Given the description of an element on the screen output the (x, y) to click on. 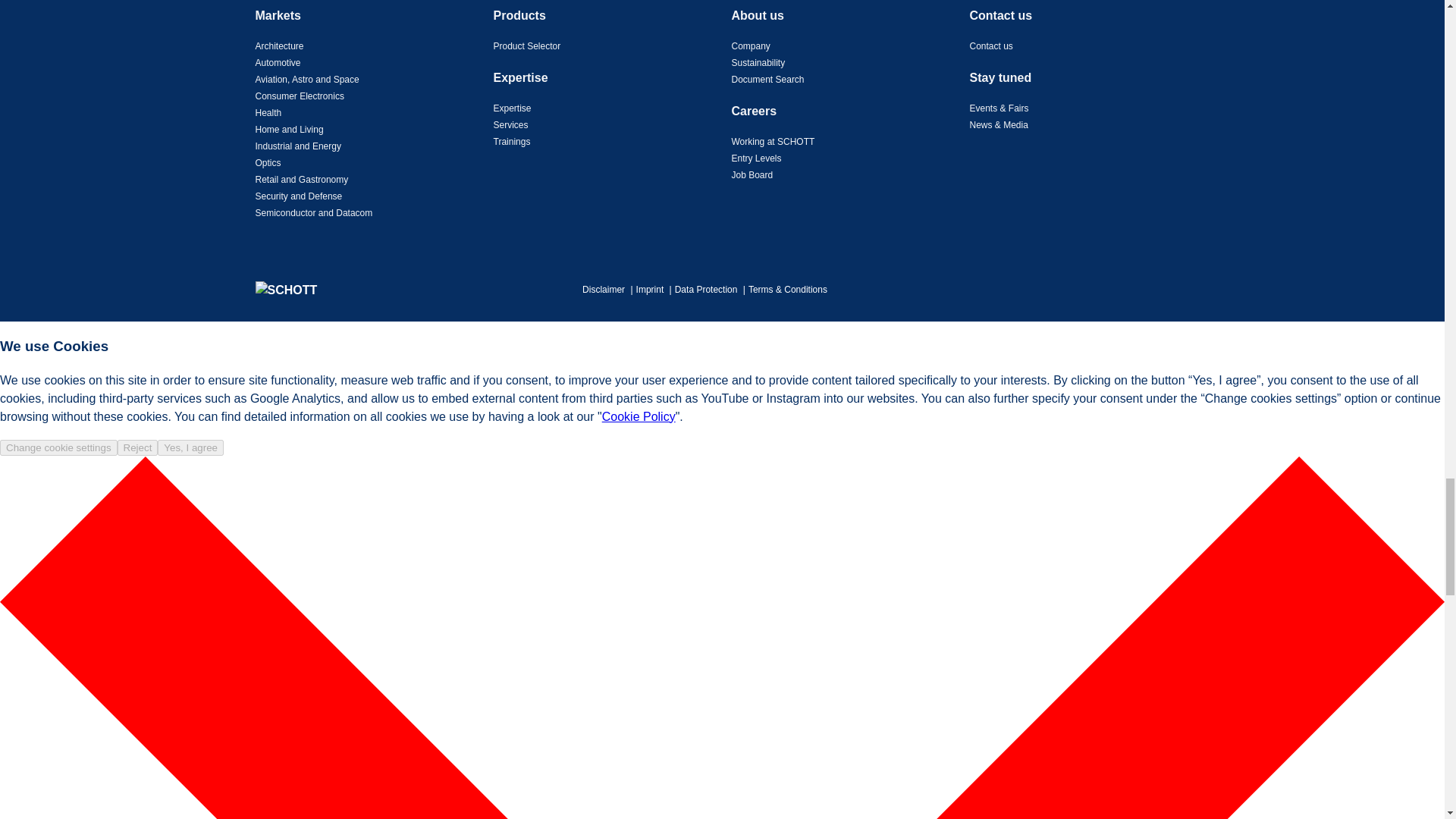
Home and Living (288, 129)
Semiconductor and Datacom (313, 213)
Consumer Electronics (298, 95)
Optics (267, 163)
Automotive (276, 62)
Health (267, 112)
Architecture (278, 45)
Industrial and Energy (297, 145)
Security and Defense (298, 195)
Retail and Gastronomy (300, 179)
Aviation, Astro and Space (306, 79)
Product Selector (526, 45)
